Given the description of an element on the screen output the (x, y) to click on. 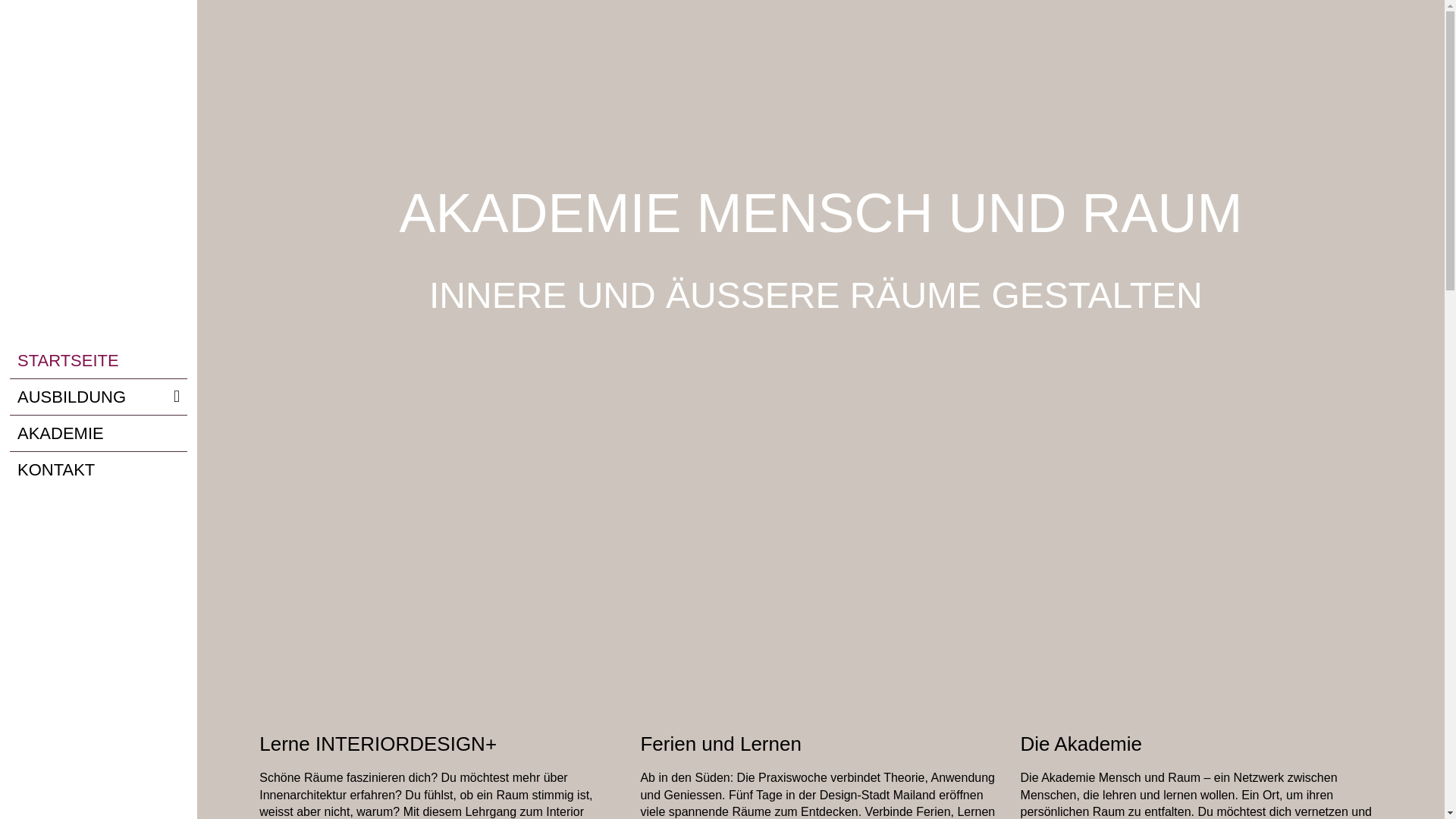
STARTSEITE Element type: text (98, 360)
AUSBILDUNG Element type: text (98, 396)
AKADEMIE Element type: text (98, 433)
KONTAKT Element type: text (98, 469)
